Given the description of an element on the screen output the (x, y) to click on. 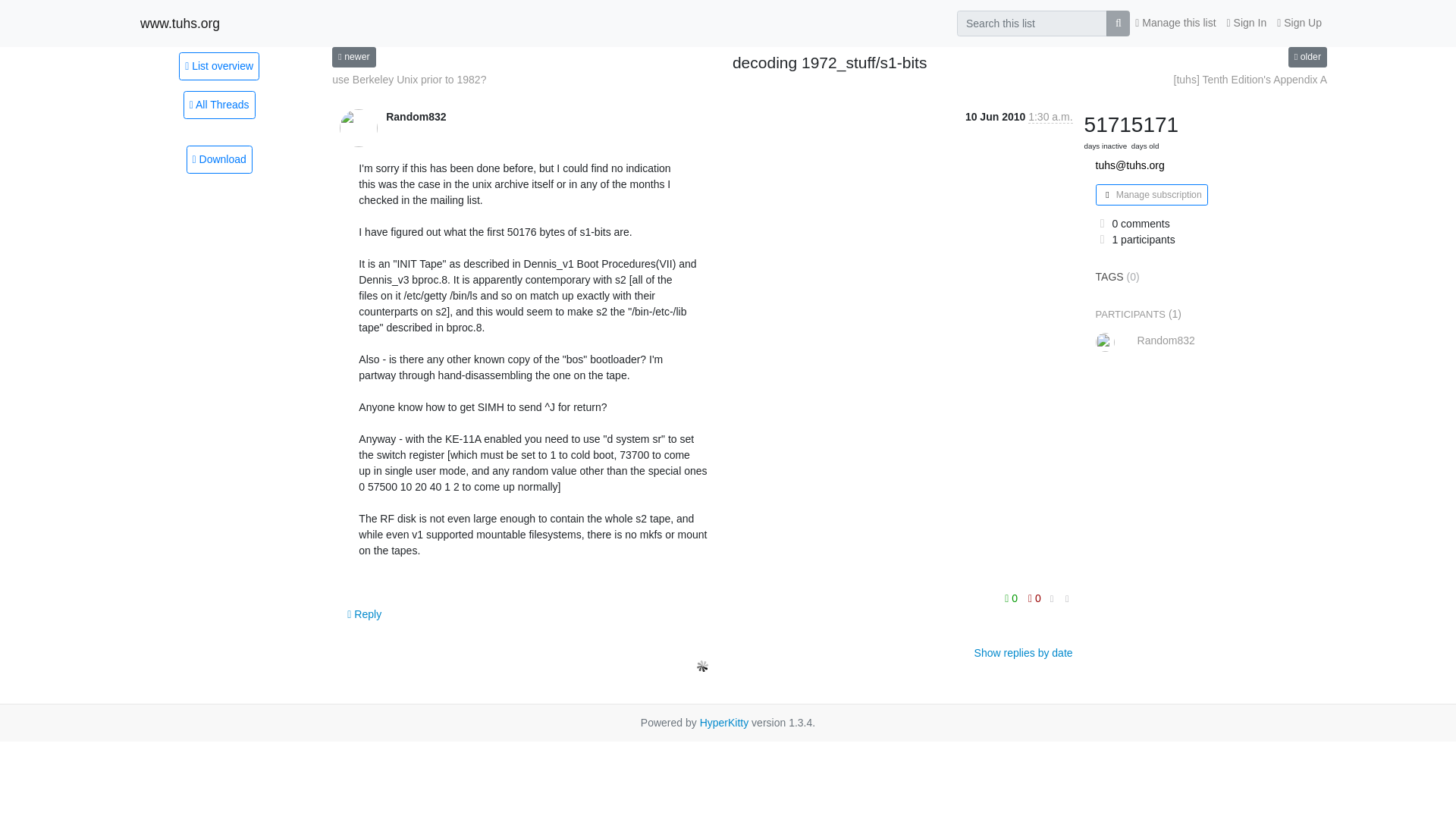
This thread in gzipped mbox format (218, 159)
Download (218, 159)
You must be logged-in to vote. (1035, 598)
All Threads (219, 104)
use Berkeley Unix prior to 1982? (408, 79)
use Berkeley Unix prior to 1982? (408, 79)
You must be logged-in to vote. (1013, 598)
older (1307, 56)
List overview (219, 65)
Manage this list (1175, 22)
